Given the description of an element on the screen output the (x, y) to click on. 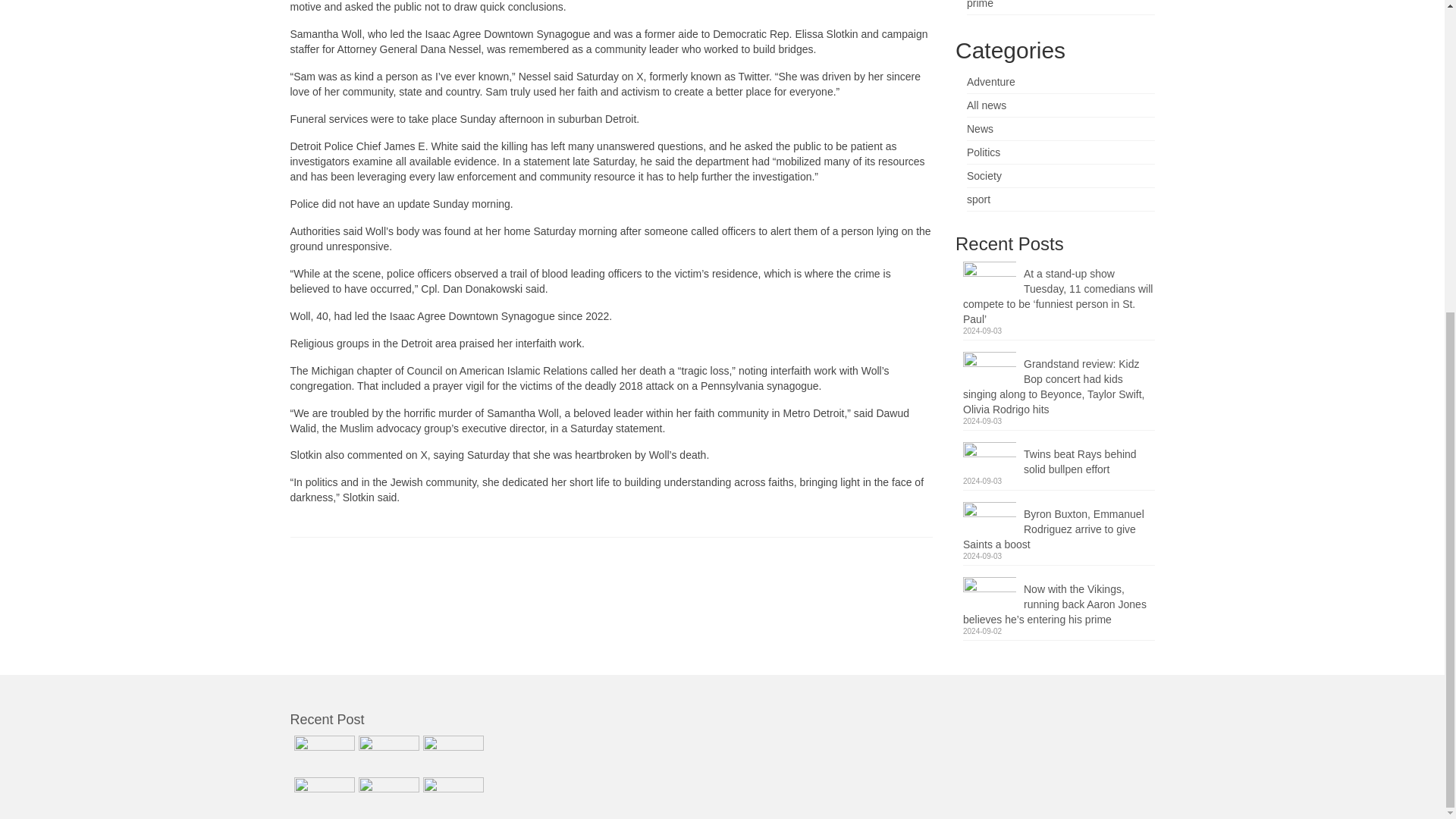
All news (986, 105)
News (979, 128)
Twins beat Rays behind solid bullpen effort (1058, 459)
Politics (983, 152)
Society (983, 175)
Twins beat Rays behind solid bullpen effort (451, 754)
Twins beat Rays behind solid bullpen effort (1058, 459)
